Given the description of an element on the screen output the (x, y) to click on. 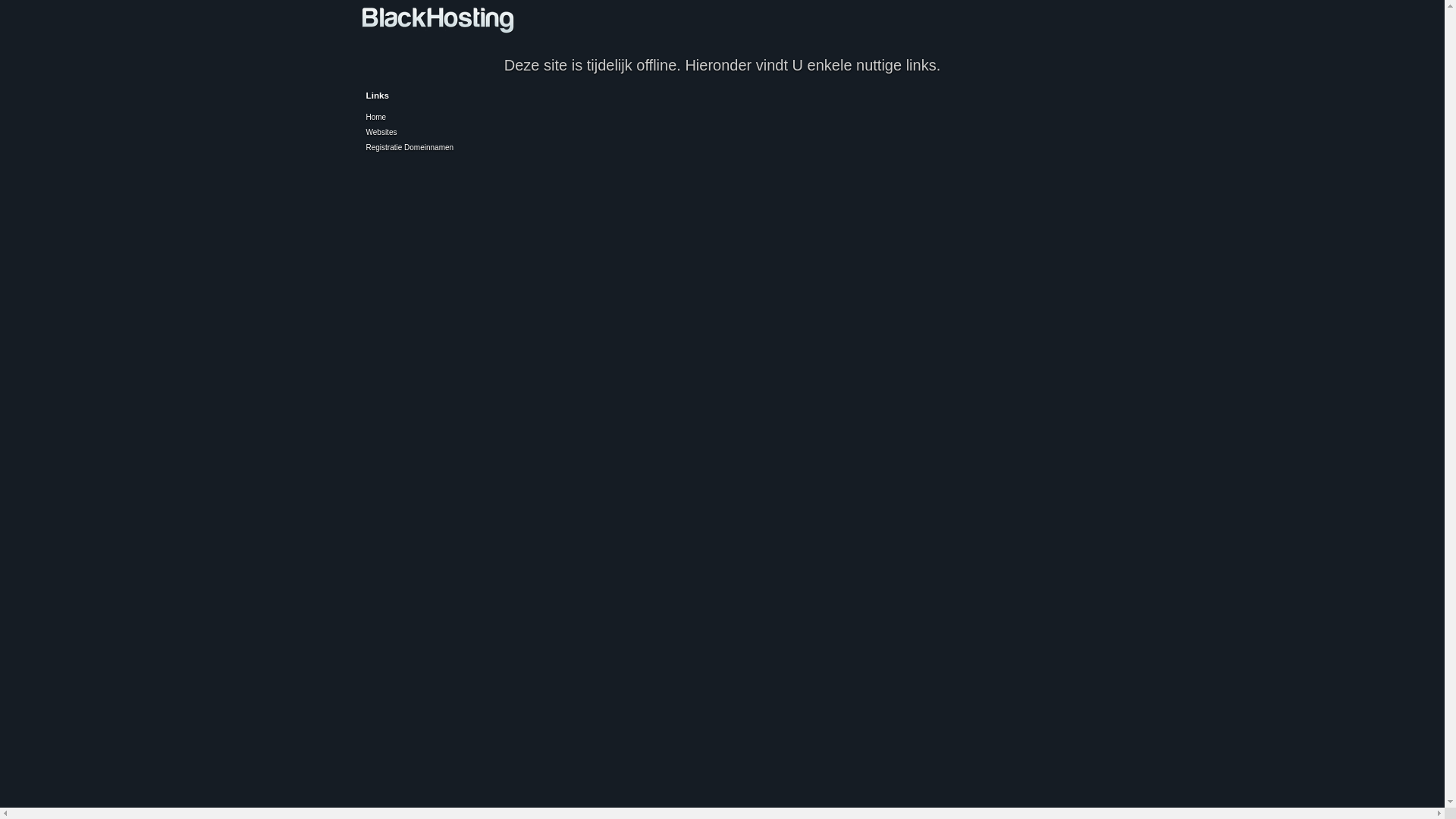
BlackHosting Element type: text (437, 22)
Registratie Domeinnamen Element type: text (409, 147)
Home Element type: text (375, 116)
Websites Element type: text (380, 132)
